Given the description of an element on the screen output the (x, y) to click on. 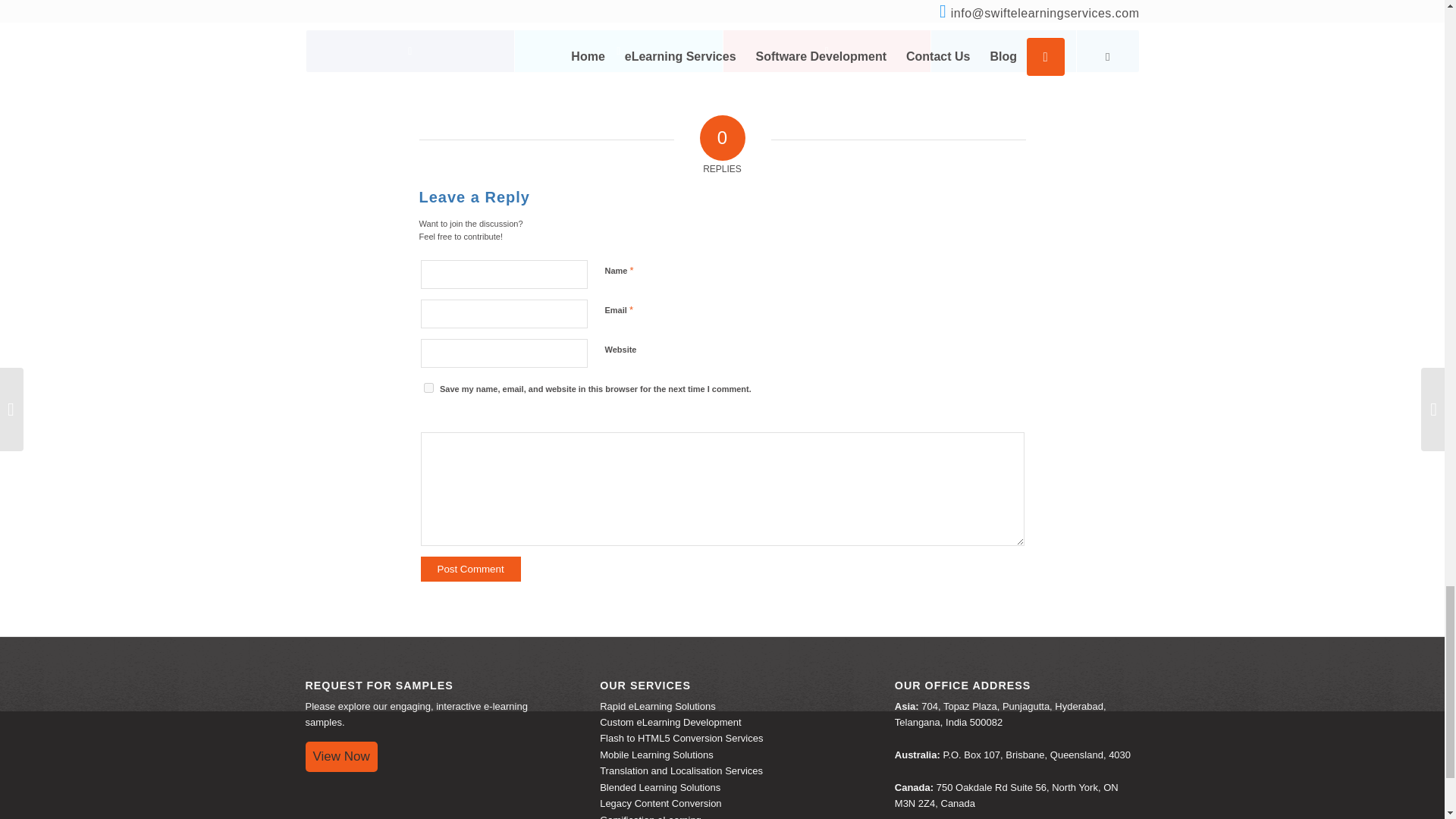
yes (427, 388)
View Now (340, 757)
Post Comment (469, 568)
